Given the description of an element on the screen output the (x, y) to click on. 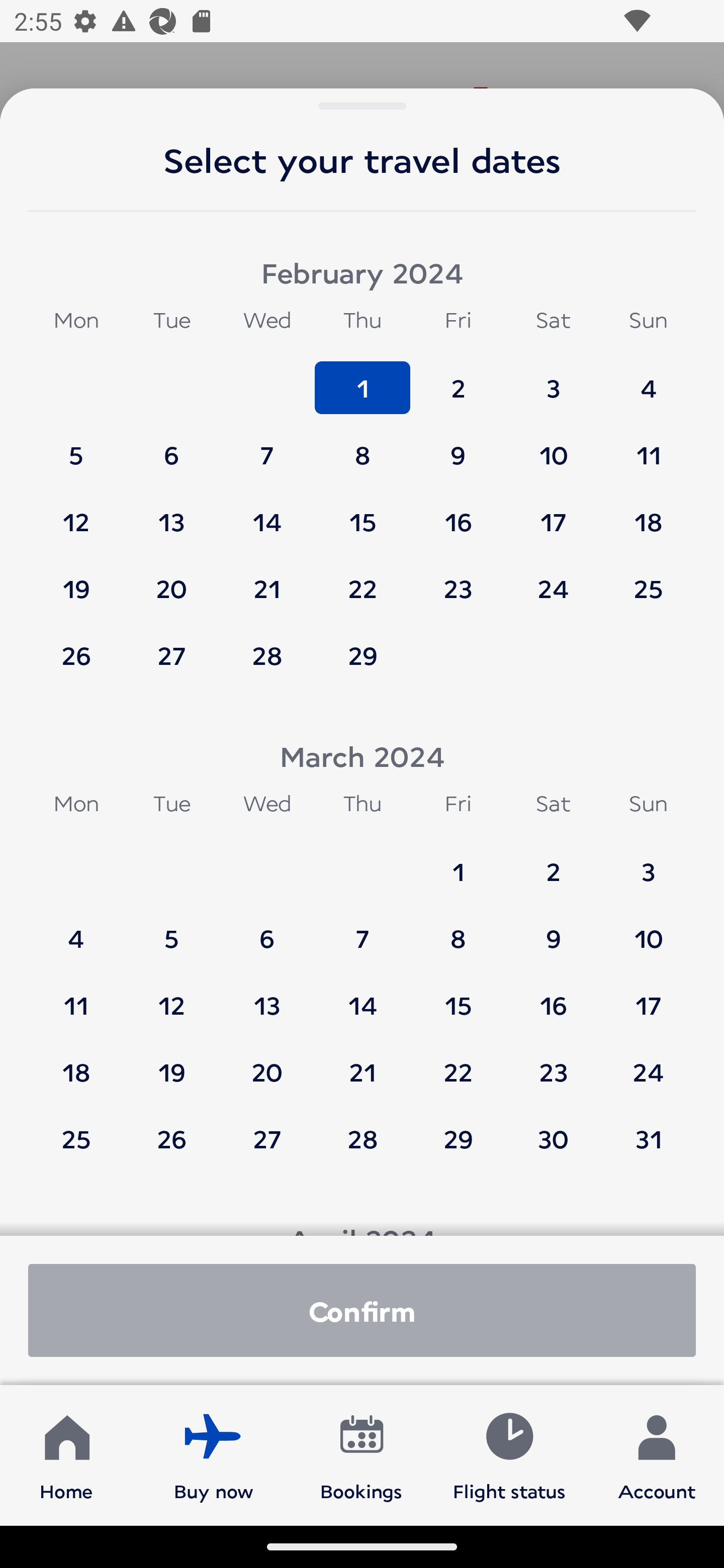
1 (362, 379)
2 (458, 379)
3 (553, 379)
4 (647, 379)
5 (75, 445)
6 (171, 445)
7 (266, 445)
8 (362, 445)
9 (458, 445)
10 (553, 445)
11 (647, 445)
12 (75, 512)
13 (171, 512)
14 (266, 512)
15 (362, 512)
16 (458, 512)
17 (553, 512)
18 (647, 512)
19 (75, 579)
20 (171, 579)
21 (266, 579)
22 (362, 579)
23 (458, 579)
24 (553, 579)
25 (647, 579)
26 (75, 655)
27 (171, 655)
28 (266, 655)
29 (362, 655)
1 (458, 862)
2 (553, 862)
3 (647, 862)
4 (75, 928)
5 (171, 928)
6 (266, 928)
7 (362, 928)
8 (458, 928)
9 (553, 928)
10 (647, 928)
11 (75, 996)
12 (171, 996)
13 (266, 996)
14 (362, 996)
15 (458, 996)
16 (553, 996)
17 (647, 996)
18 (75, 1063)
19 (171, 1063)
20 (266, 1063)
21 (362, 1063)
22 (458, 1063)
23 (553, 1063)
24 (647, 1063)
25 (75, 1138)
26 (171, 1138)
27 (266, 1138)
28 (362, 1138)
29 (458, 1138)
30 (553, 1138)
31 (647, 1138)
Confirm (361, 1309)
Home (66, 1454)
Bookings (361, 1454)
Flight status (509, 1454)
Account (657, 1454)
